Given the description of an element on the screen output the (x, y) to click on. 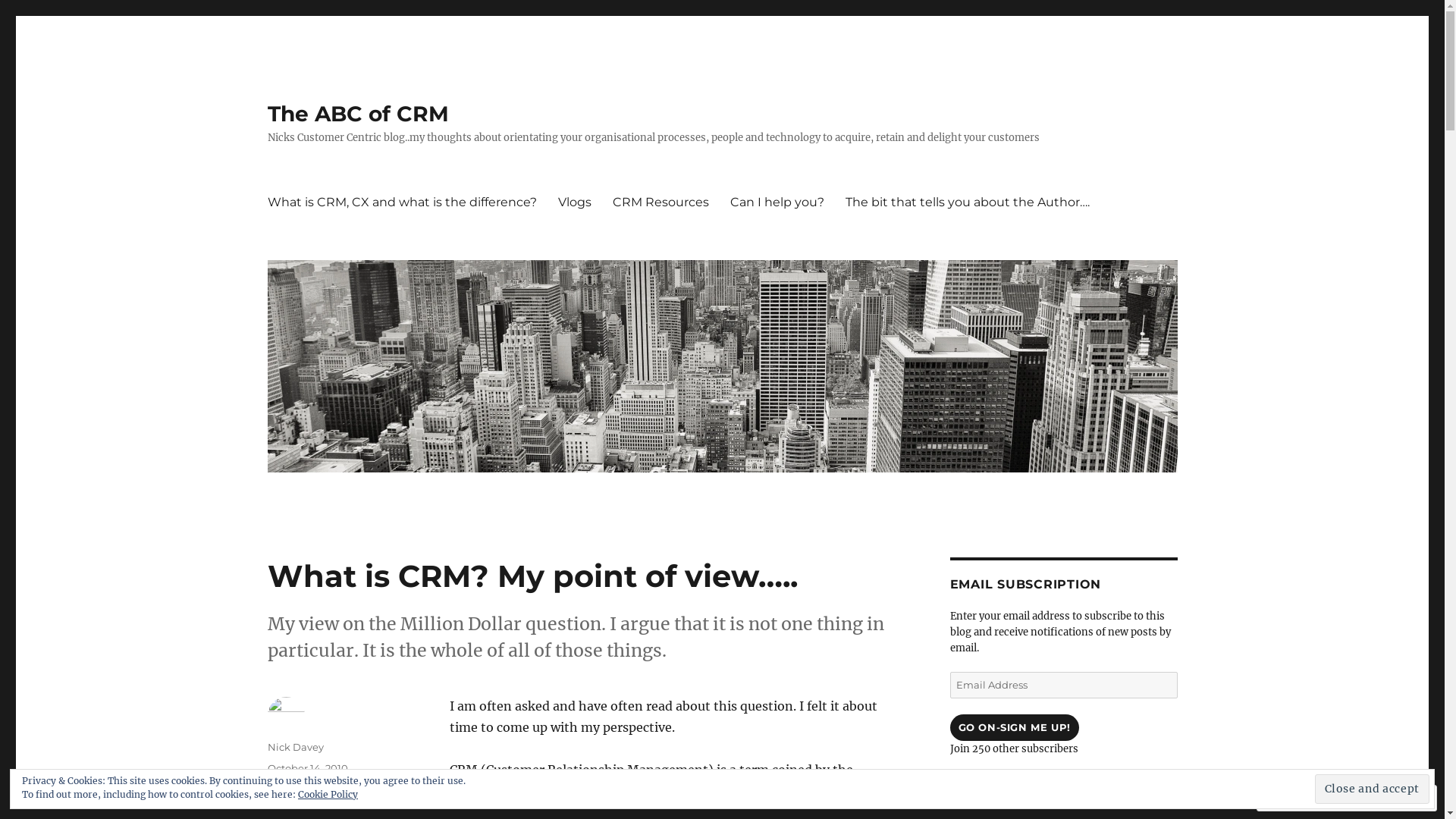
CRM Consulting Element type: text (306, 789)
Follow Element type: text (1373, 797)
CRM tools Element type: text (375, 789)
Vlogs Element type: text (574, 201)
Cookie Policy Element type: text (327, 794)
The ABC of CRM Element type: text (357, 113)
October 14, 2010 Element type: text (306, 768)
Customer Management Element type: text (325, 805)
What is CRM, CX and what is the difference? Element type: text (401, 201)
CRM Resources Element type: text (660, 201)
Nick Davey Element type: text (294, 746)
Can I help you? Element type: text (776, 201)
Comment Element type: text (1297, 797)
GO ON-SIGN ME UP! Element type: text (1013, 727)
Close and accept Element type: text (1372, 788)
